Given the description of an element on the screen output the (x, y) to click on. 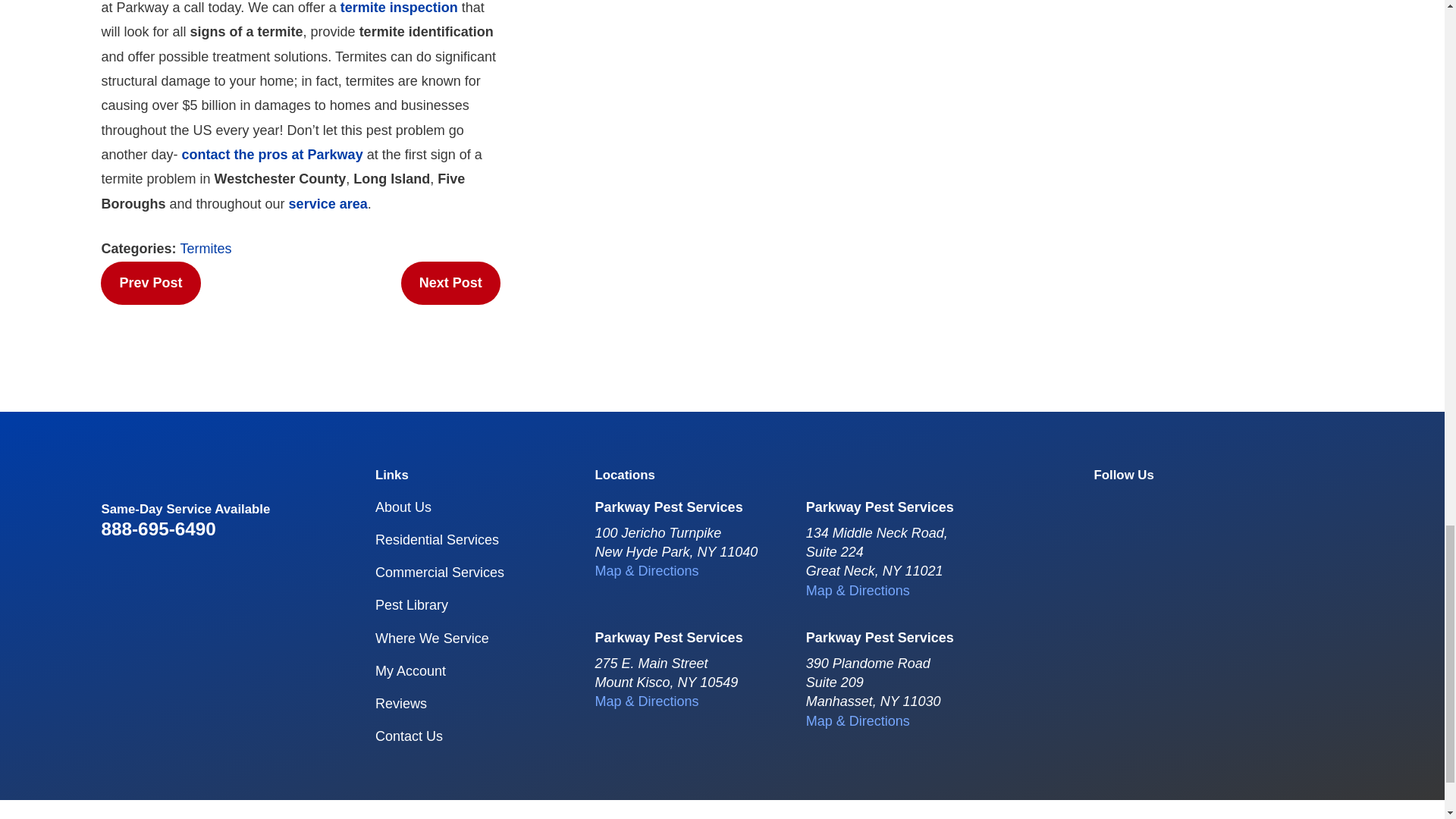
Facebook (1107, 506)
Twitter (1163, 506)
